Given the description of an element on the screen output the (x, y) to click on. 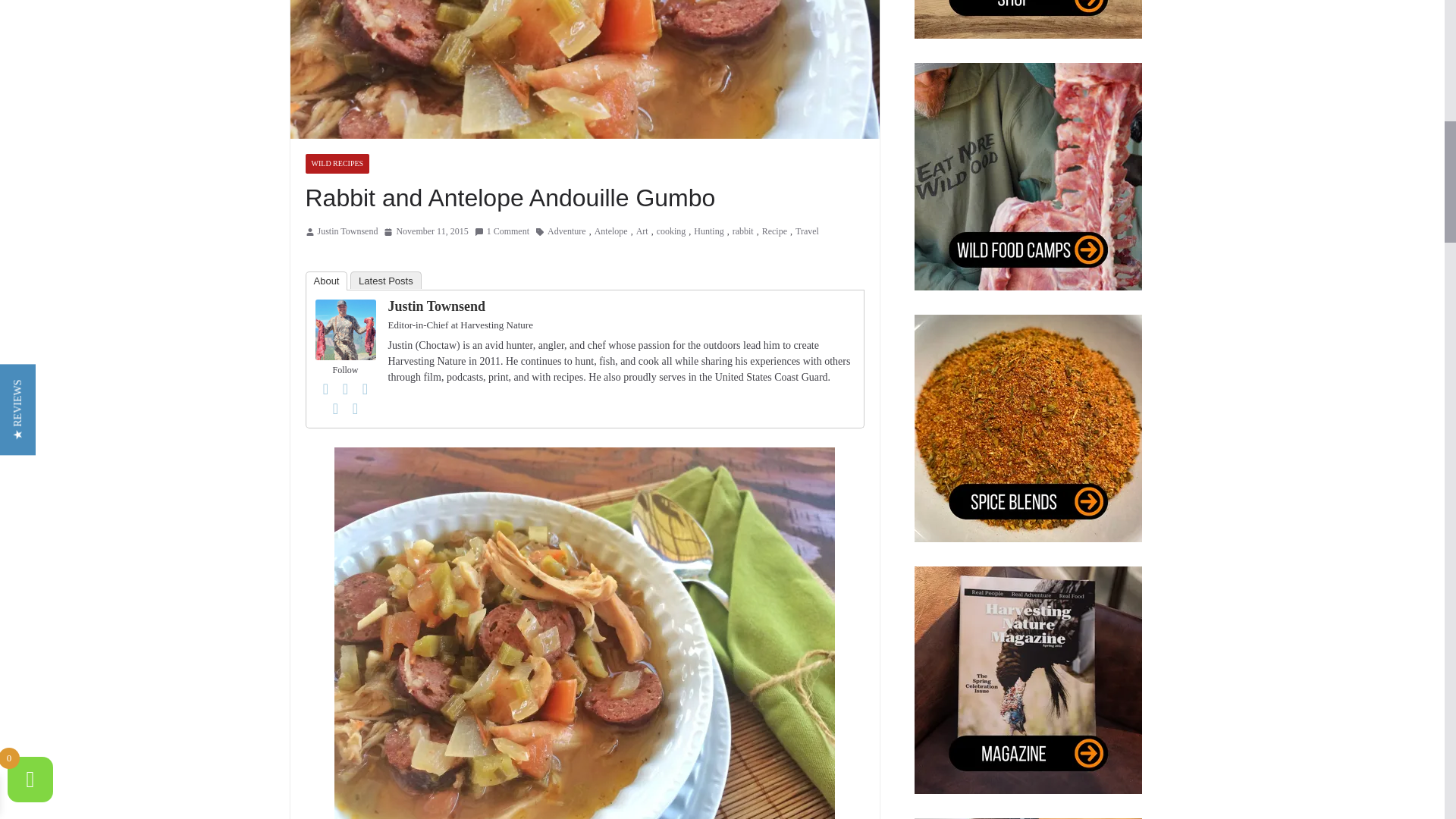
Facebook (325, 389)
Email (355, 408)
Vimeo (334, 408)
Instagram (365, 389)
Justin Townsend (345, 309)
8:23 am (425, 231)
Justin Townsend (347, 231)
Twitter (345, 389)
